Given the description of an element on the screen output the (x, y) to click on. 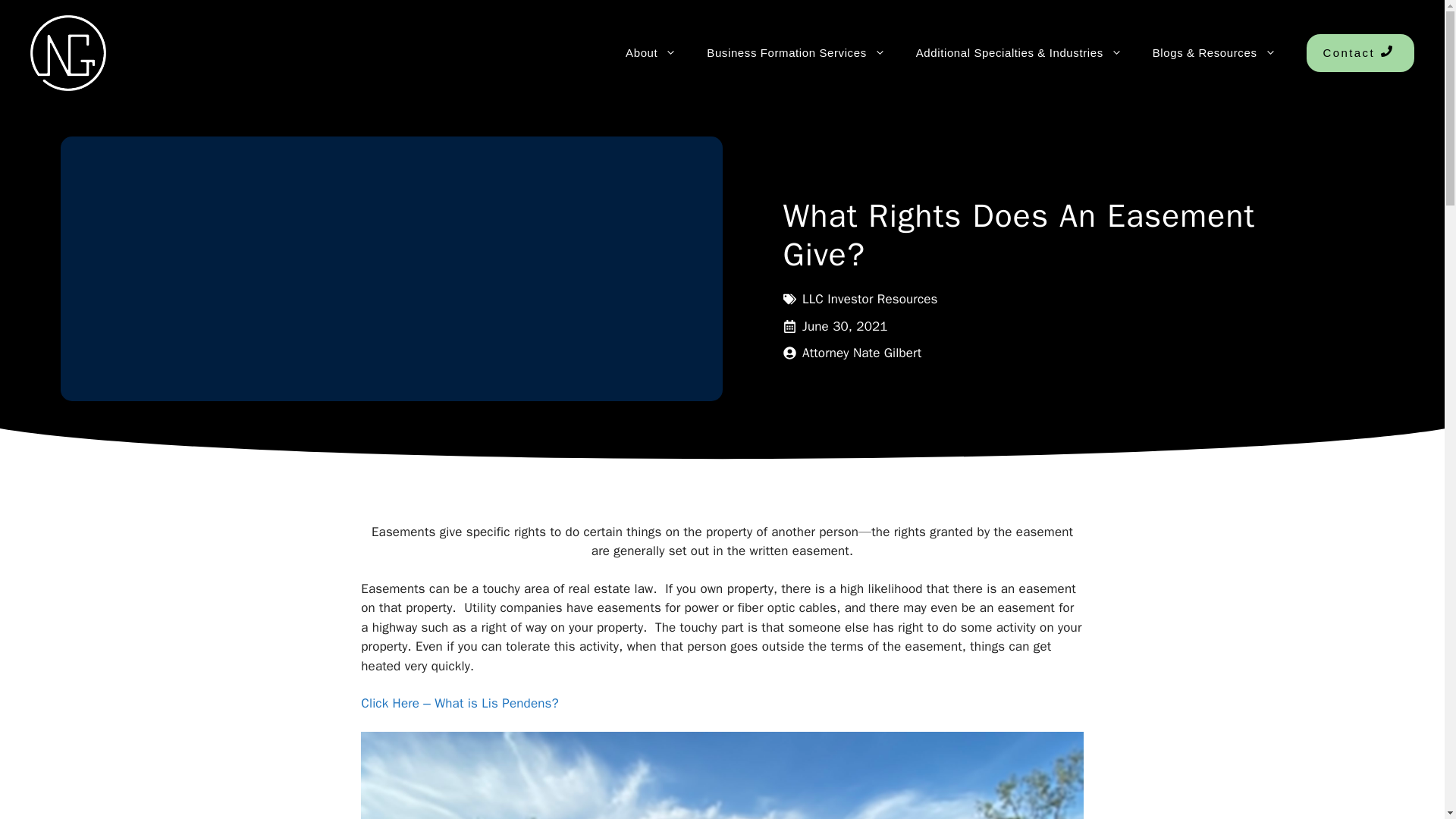
About (650, 53)
Business Formation Services (795, 53)
Contact (1359, 53)
